Given the description of an element on the screen output the (x, y) to click on. 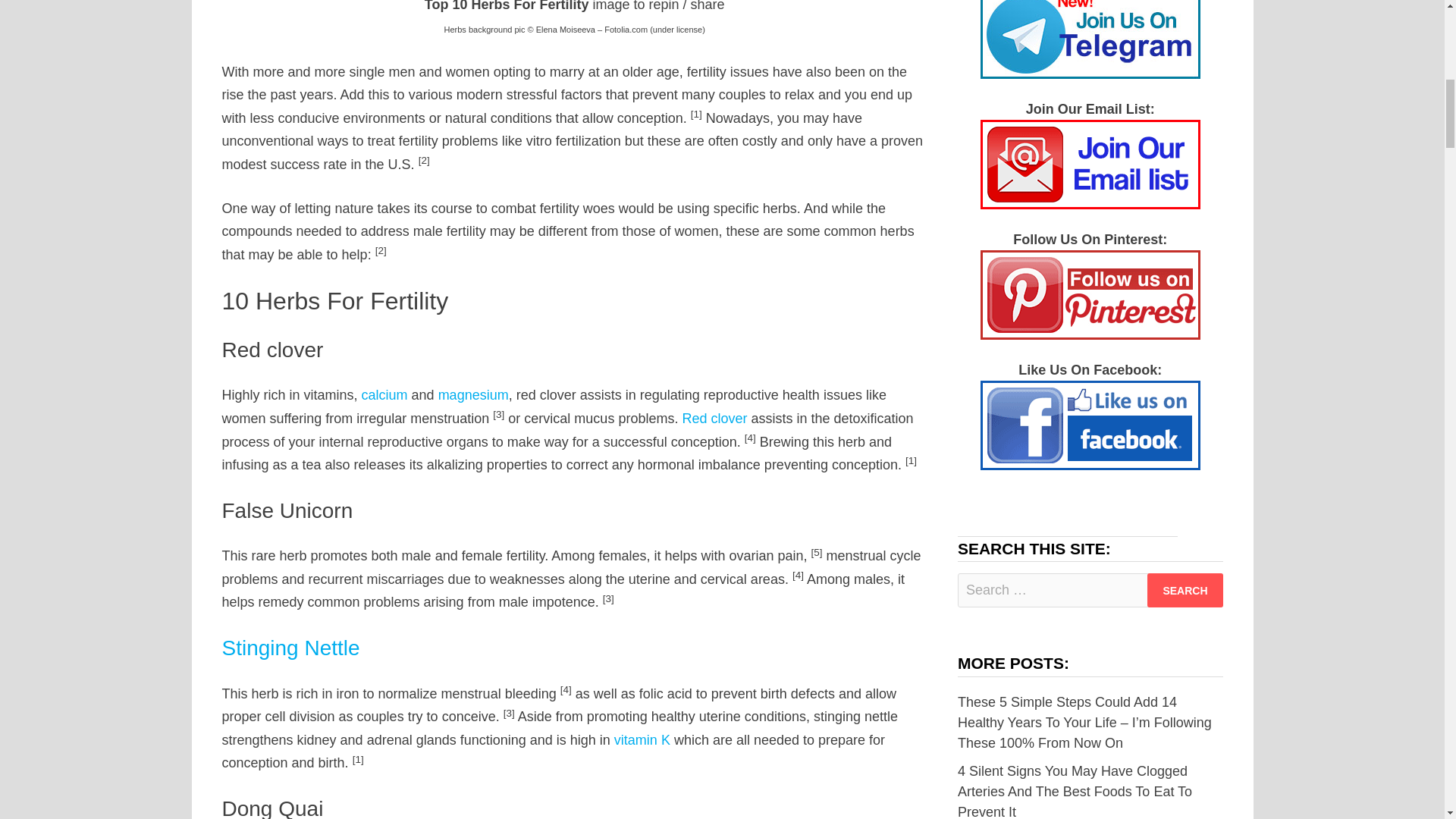
Stinging Nettle (290, 648)
vitamin K (641, 739)
Search (1185, 590)
calcium (384, 394)
Red clover (713, 418)
Search (1185, 590)
magnesium (473, 394)
